Given the description of an element on the screen output the (x, y) to click on. 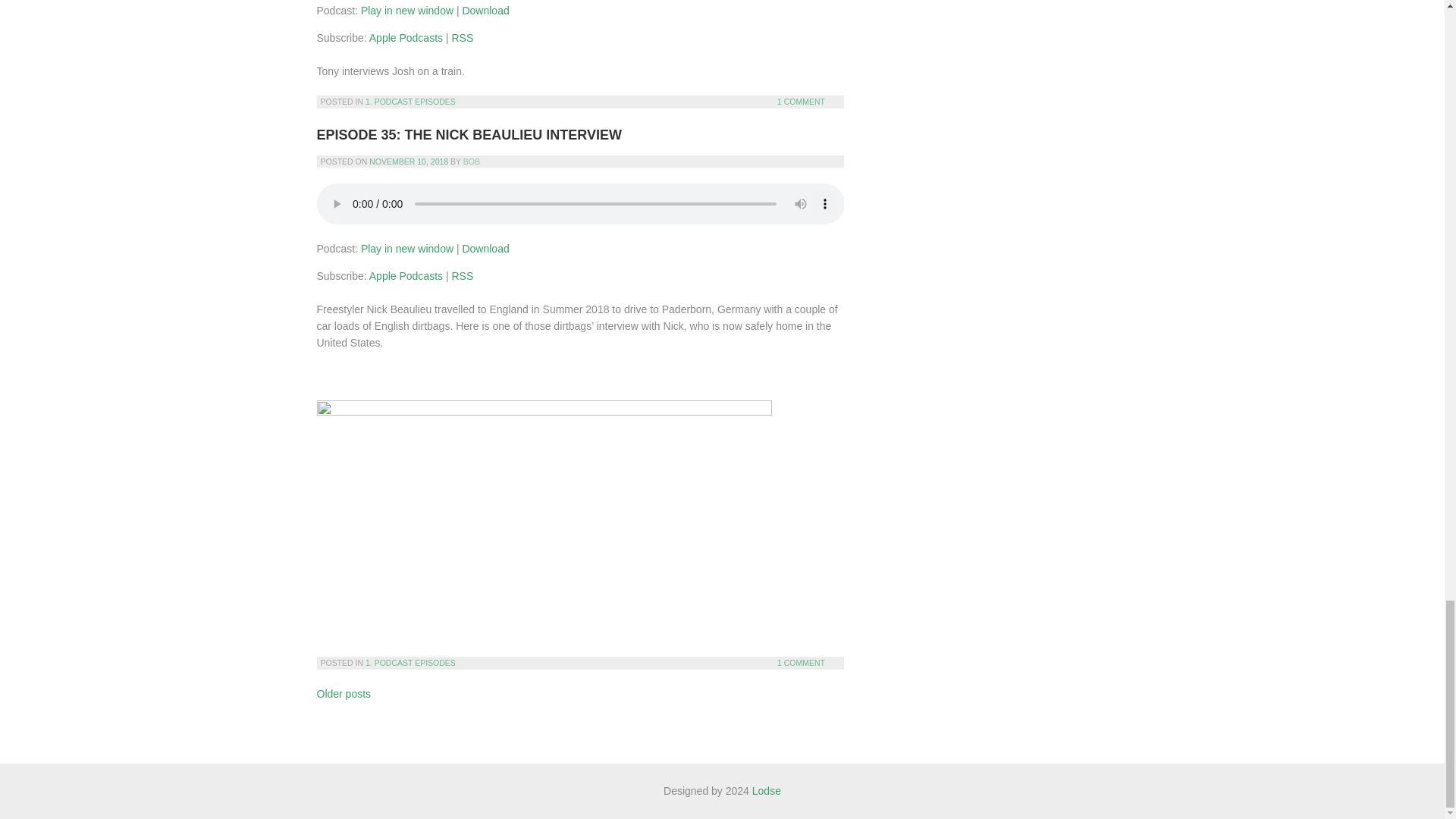
Download (484, 10)
Subscribe on Apple Podcasts (405, 37)
Play in new window (406, 10)
